Given the description of an element on the screen output the (x, y) to click on. 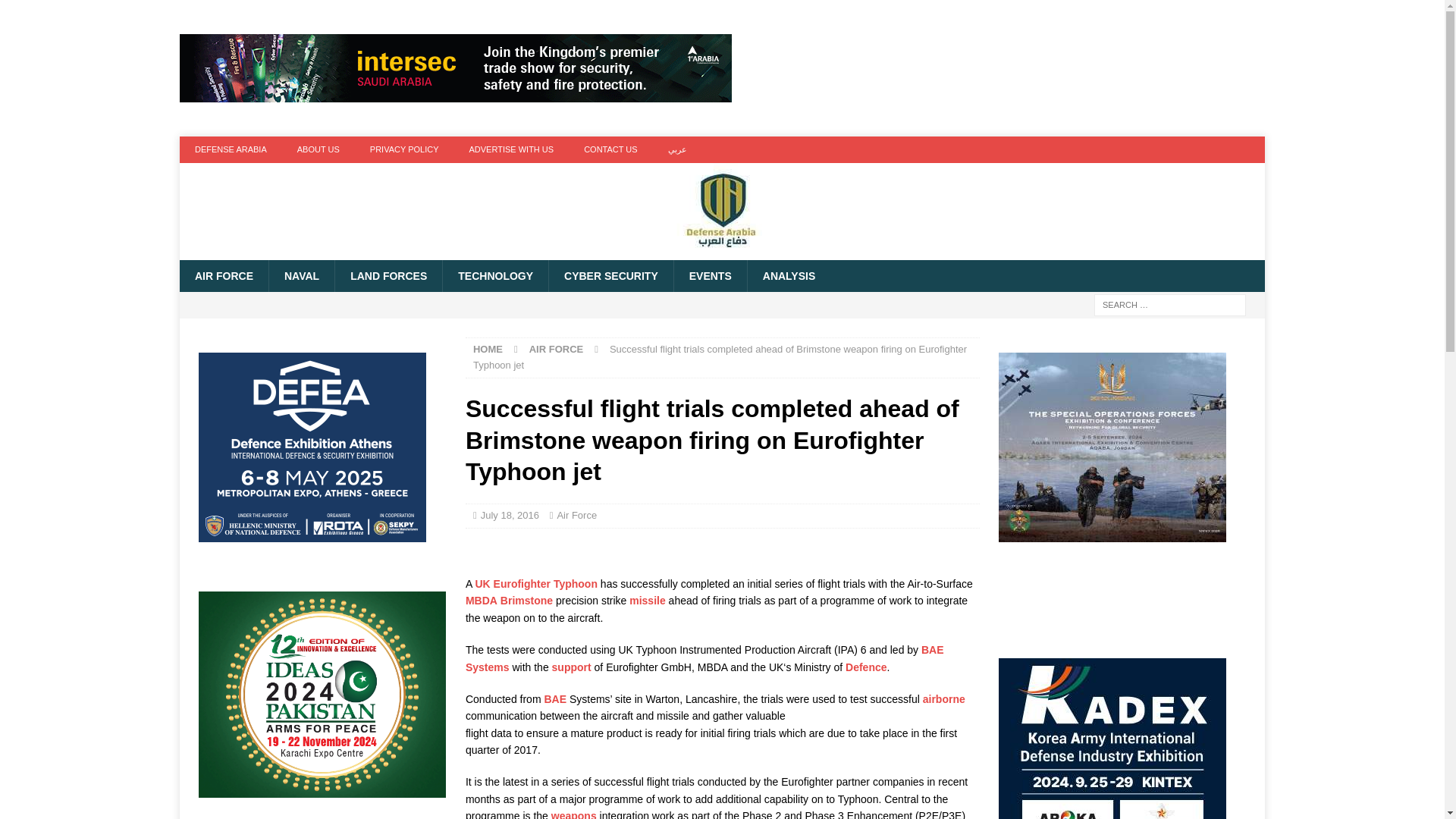
Typhoon (574, 583)
AIR FORCE (223, 275)
LAND FORCES (388, 275)
ADVERTISE WITH US (510, 149)
UK (481, 583)
ABOUT US (318, 149)
CONTACT US (610, 149)
Search (56, 11)
July 18, 2016 (509, 514)
Eurofighter (521, 583)
NAVAL (300, 275)
CYBER SECURITY (610, 275)
Defense Arabia (721, 251)
EVENTS (709, 275)
Air Force (576, 514)
